Given the description of an element on the screen output the (x, y) to click on. 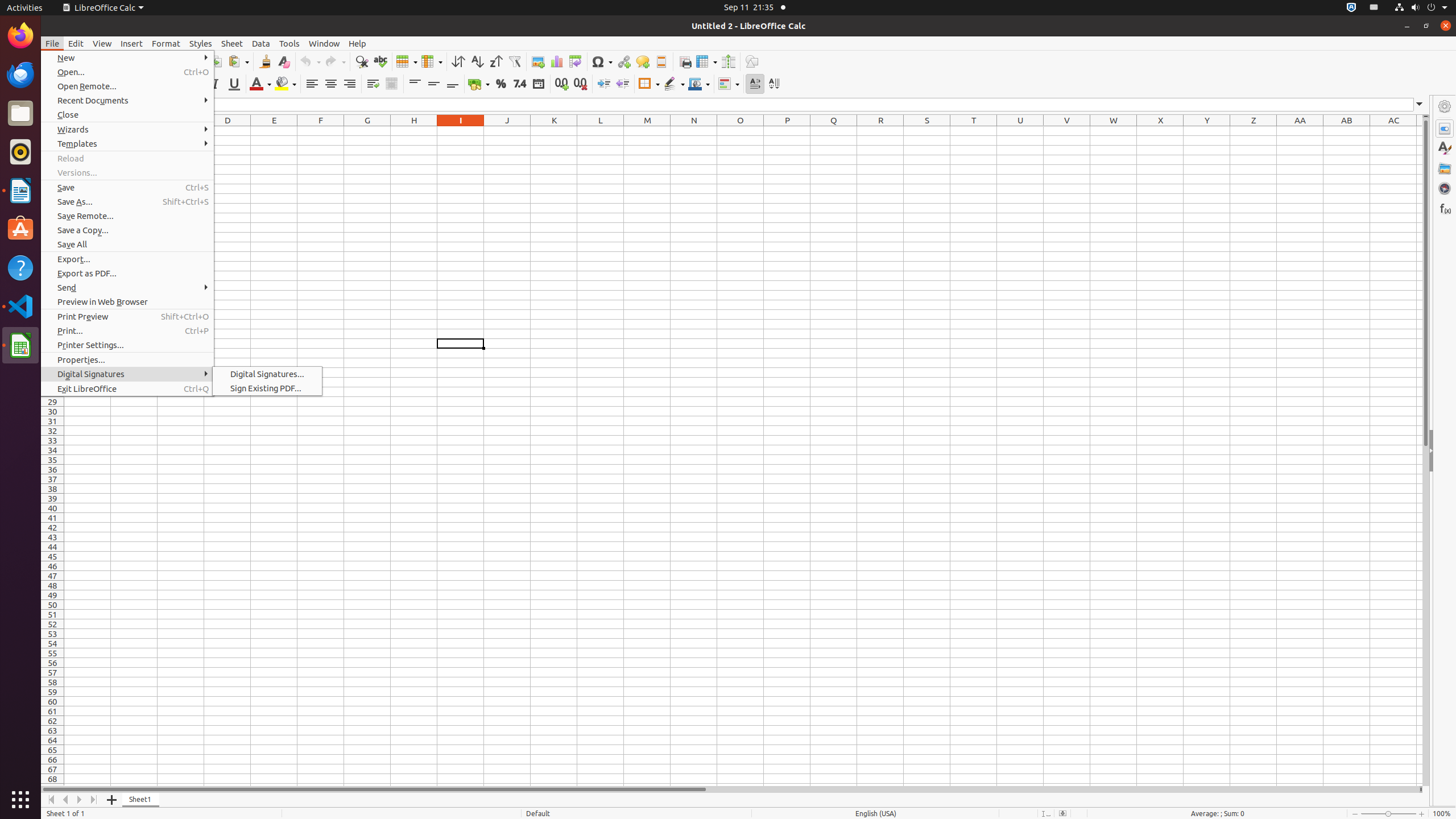
Sign Existing PDF... Element type: menu-item (266, 388)
Move To End Element type: push-button (94, 799)
Border Color Element type: push-button (698, 83)
Center Vertically Element type: push-button (433, 83)
